Given the description of an element on the screen output the (x, y) to click on. 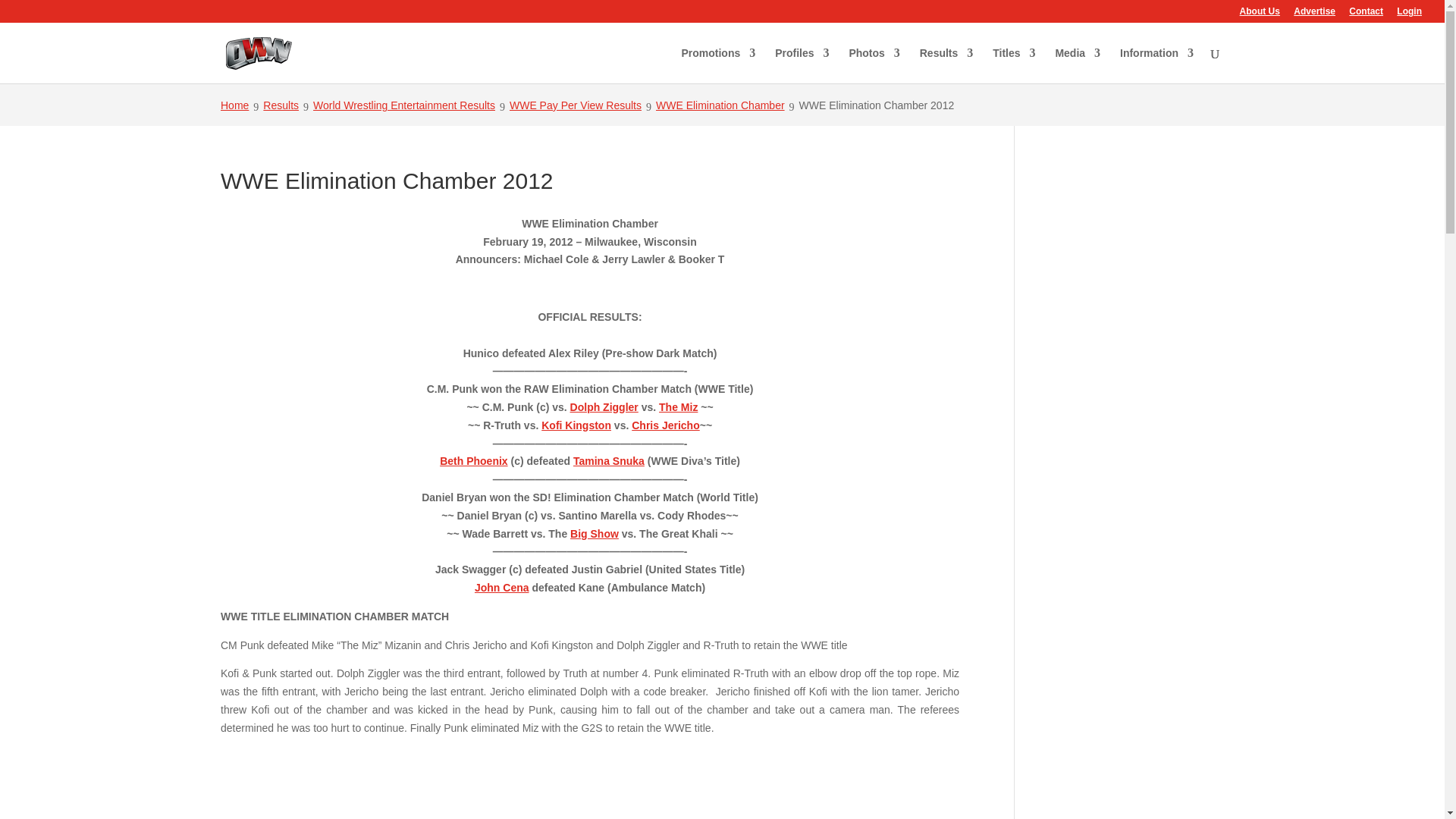
Advertise (1314, 14)
Promotions (718, 65)
About Us (1259, 14)
Contact (1366, 14)
Login (1409, 14)
Profiles (801, 65)
